Given the description of an element on the screen output the (x, y) to click on. 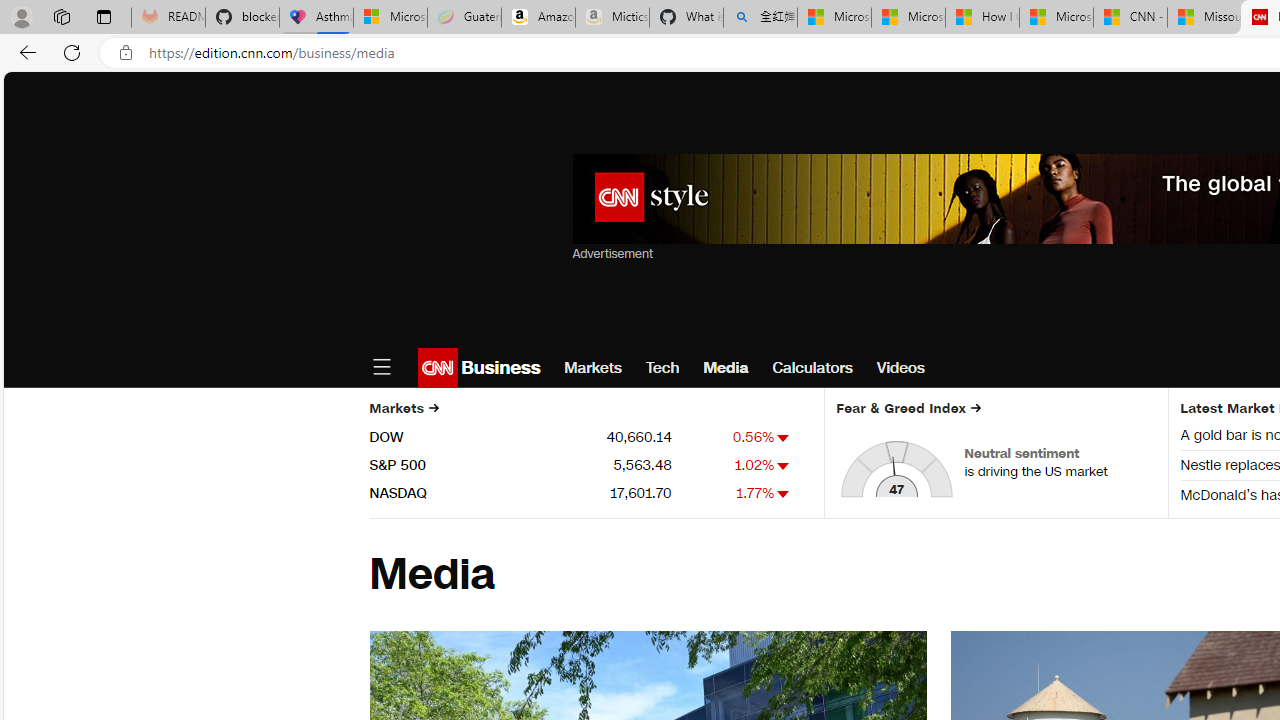
CNN - MSN (1130, 17)
Videos (900, 367)
Class: market-fng-gauge__hand-svg (893, 475)
Neutral sentiment is driving the US market (1059, 462)
Open Menu Icon (381, 367)
Business (498, 367)
AutomationID: fear-and-greed-dial (896, 467)
Class: right-arrow (975, 408)
